Given the description of an element on the screen output the (x, y) to click on. 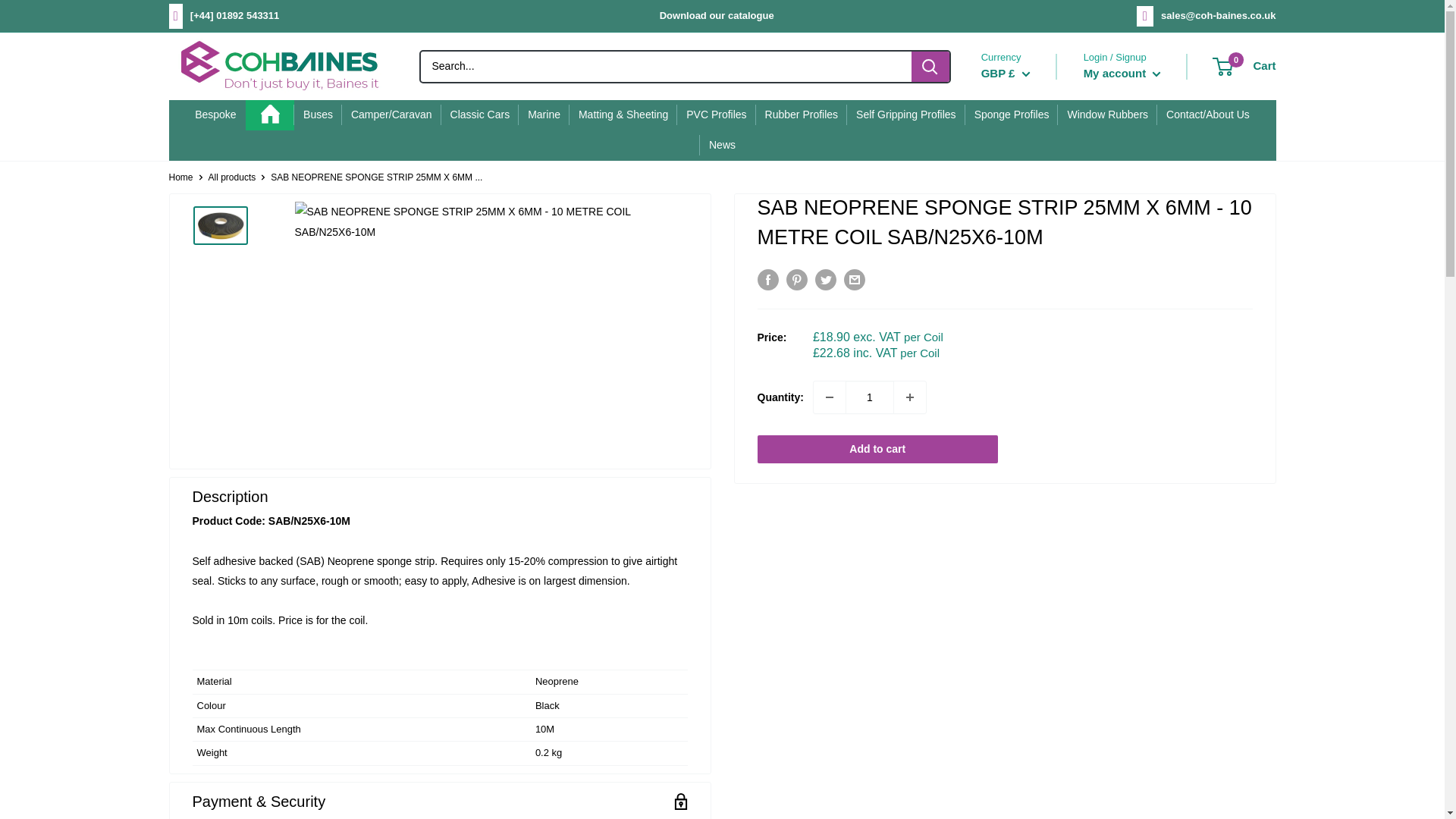
AMD (1027, 293)
Download our catalogue (716, 15)
AUD (1027, 334)
1 (869, 397)
BAM (1027, 396)
ALL (1027, 273)
Classic Cars (480, 114)
Marine (543, 114)
AWG (1027, 355)
AZN (1027, 376)
ANG (1027, 314)
BDT (1027, 437)
BBD (1027, 417)
AED (1027, 232)
Buses (318, 114)
